Given the description of an element on the screen output the (x, y) to click on. 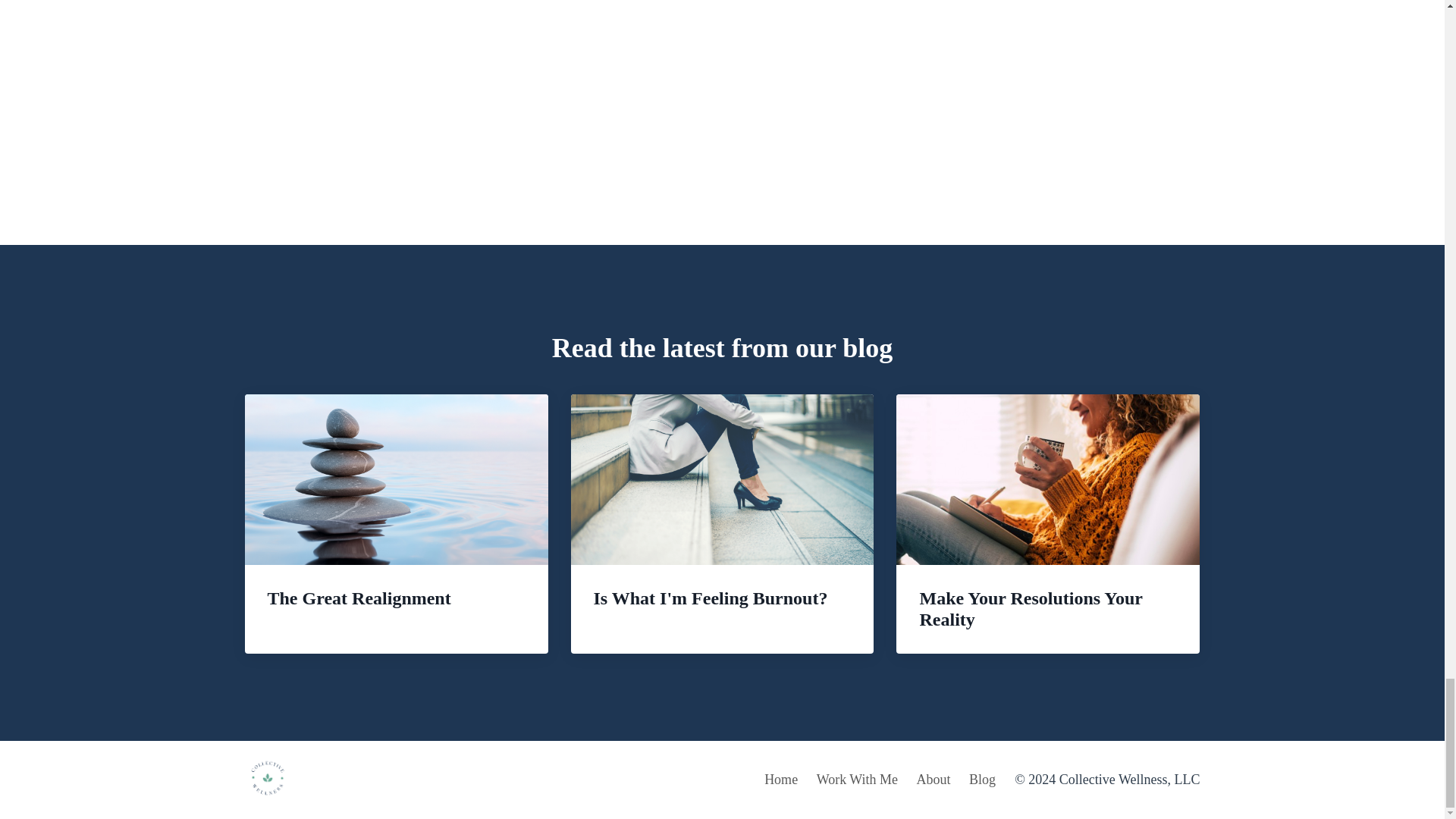
The Great Realignment (396, 512)
Home (780, 779)
Blog (982, 779)
Is What I'm Feeling Burnout?  (721, 512)
Make Your Resolutions Your Reality (1047, 523)
Work With Me (857, 779)
About (933, 779)
